Given the description of an element on the screen output the (x, y) to click on. 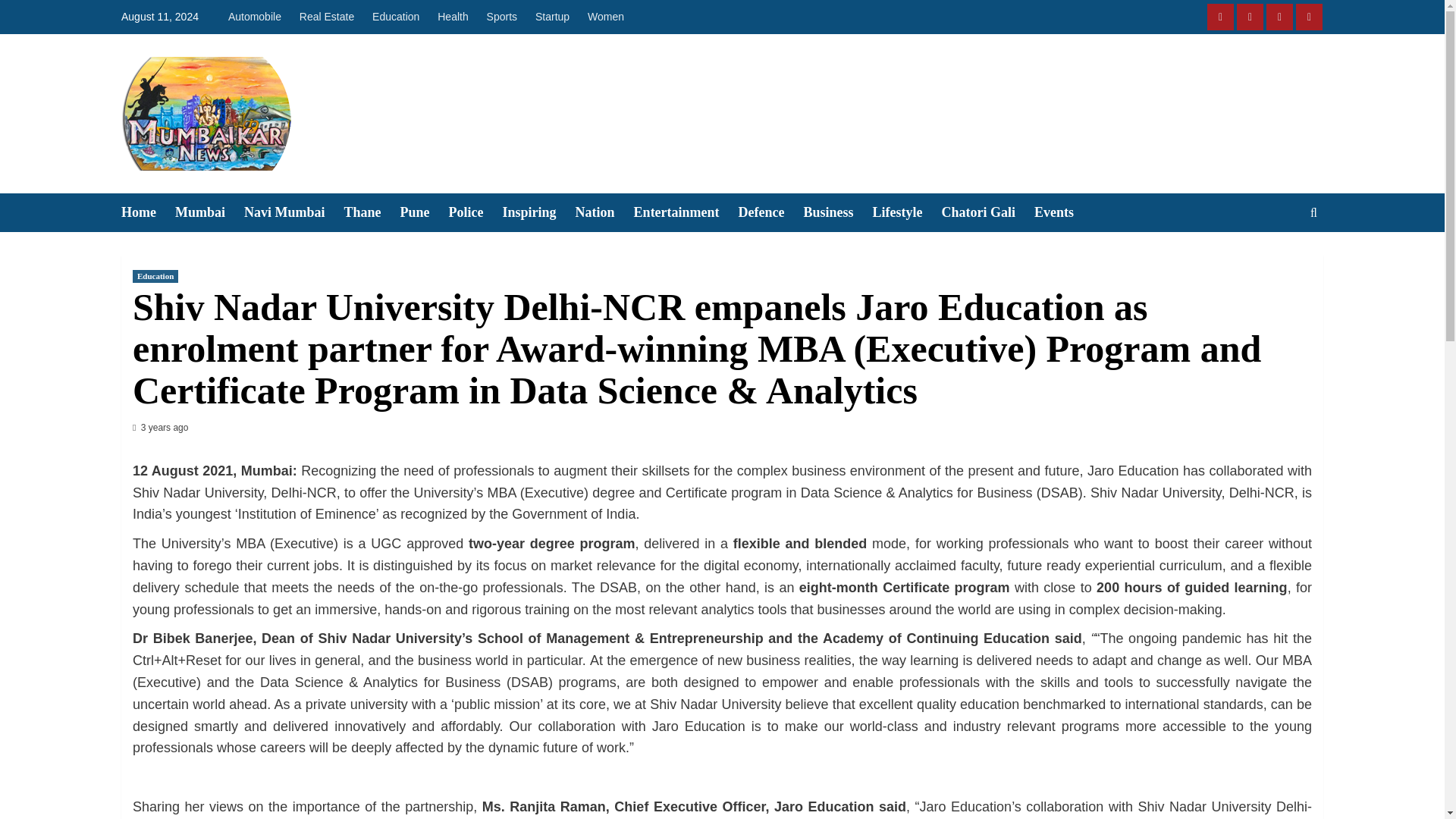
Education (154, 276)
Education (395, 17)
Search (1278, 259)
3 years ago (165, 427)
Inspiring (538, 212)
Lifestyle (907, 212)
Events (1063, 212)
Thane (371, 212)
Police (475, 212)
Chatori Gali (988, 212)
